Given the description of an element on the screen output the (x, y) to click on. 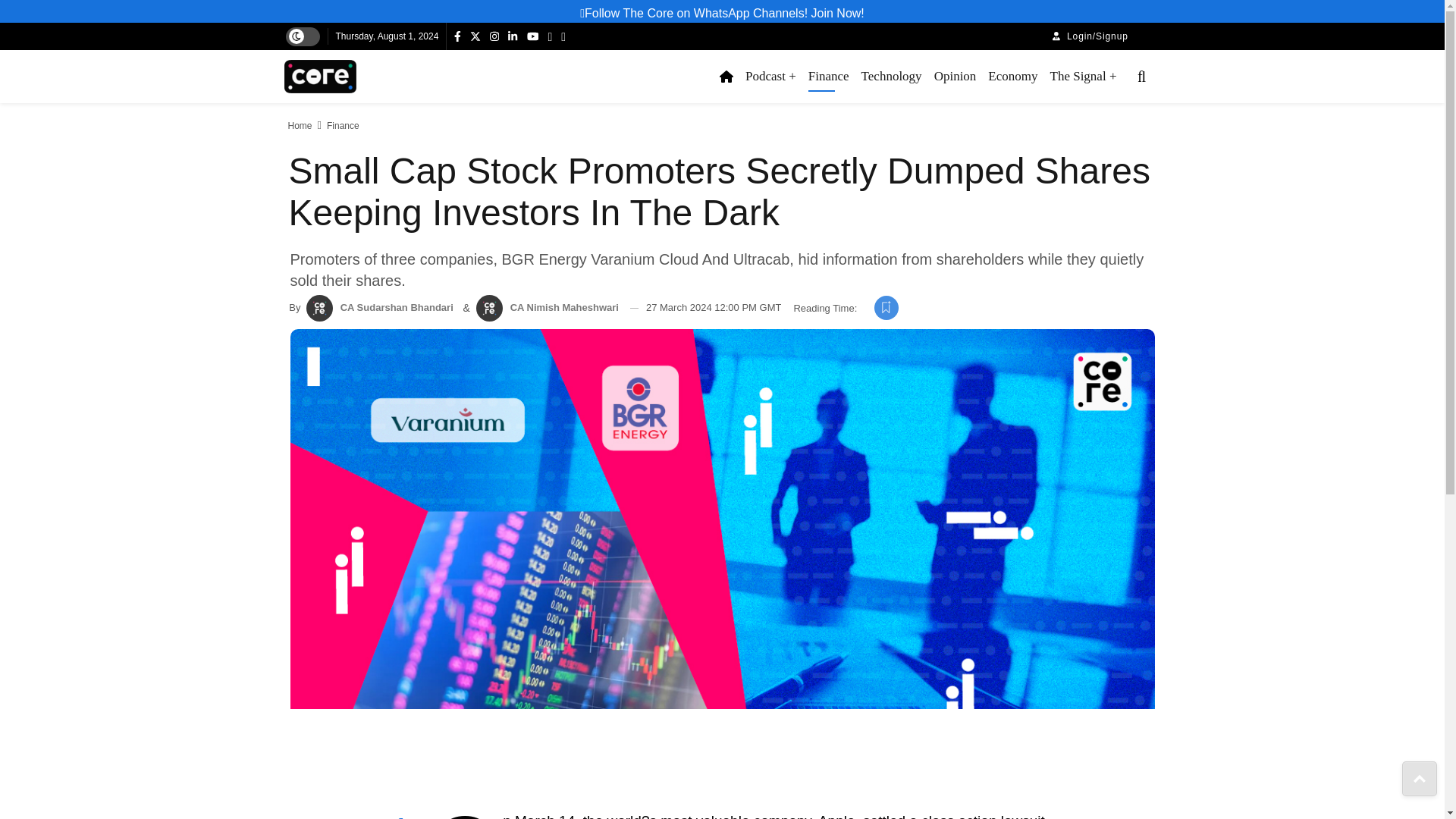
The Core (319, 75)
Technology (892, 76)
Opinion (955, 76)
Economy (1012, 76)
mode-button (295, 36)
Bookmark this article (886, 307)
CA Sudarshan Bhandari (319, 307)
CA Nimish Maheshwari (489, 307)
Finance (829, 76)
